Given the description of an element on the screen output the (x, y) to click on. 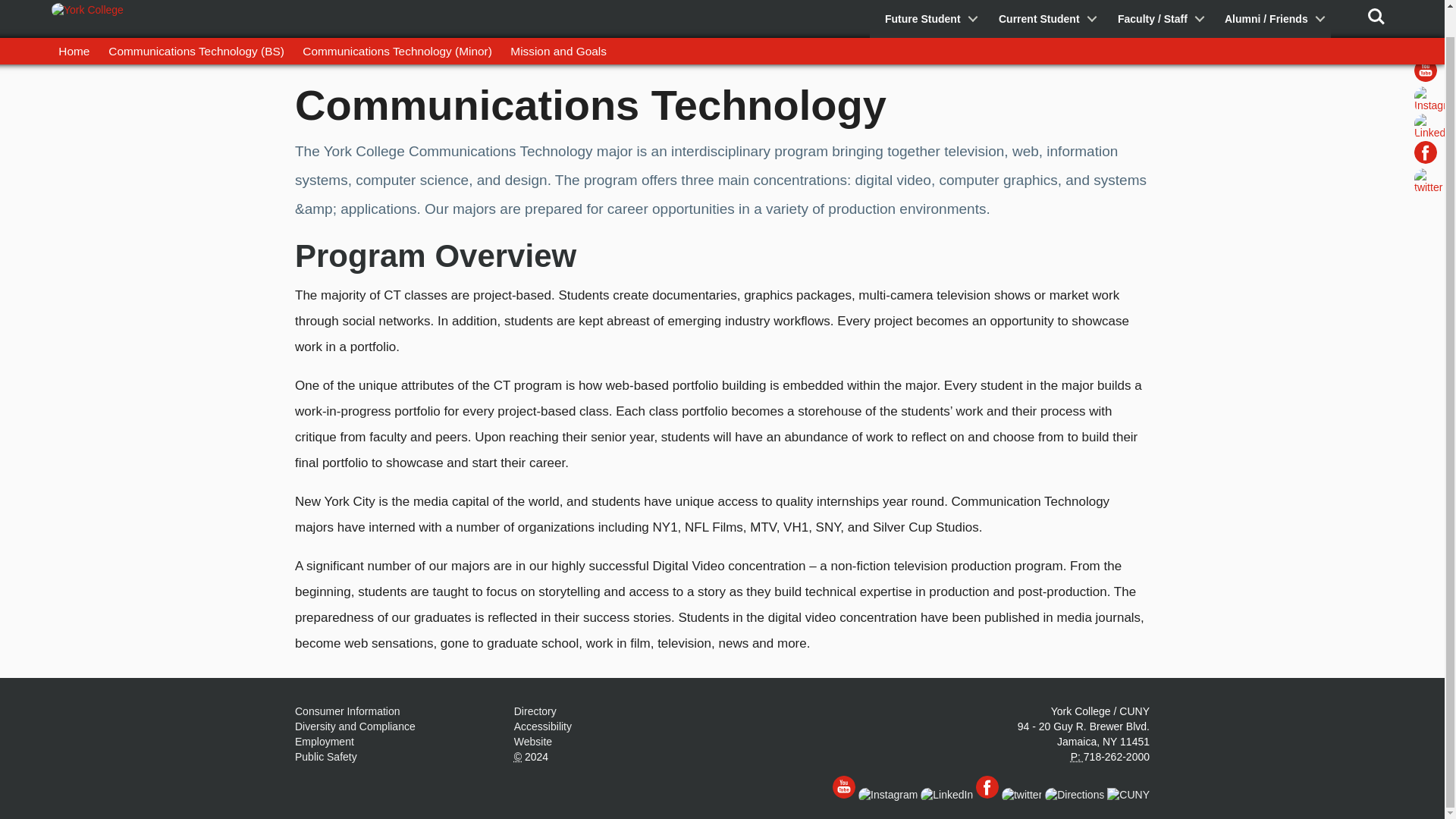
Diversity and Compliance (354, 726)
Public Safety (325, 756)
Mission and Goals (557, 23)
Directory (534, 711)
Accessibility (542, 726)
Future Student (926, 5)
Current Student (1043, 5)
Website (532, 741)
Employment (324, 741)
Phone (1076, 756)
Home (74, 23)
Consumer Information (347, 711)
